Given the description of an element on the screen output the (x, y) to click on. 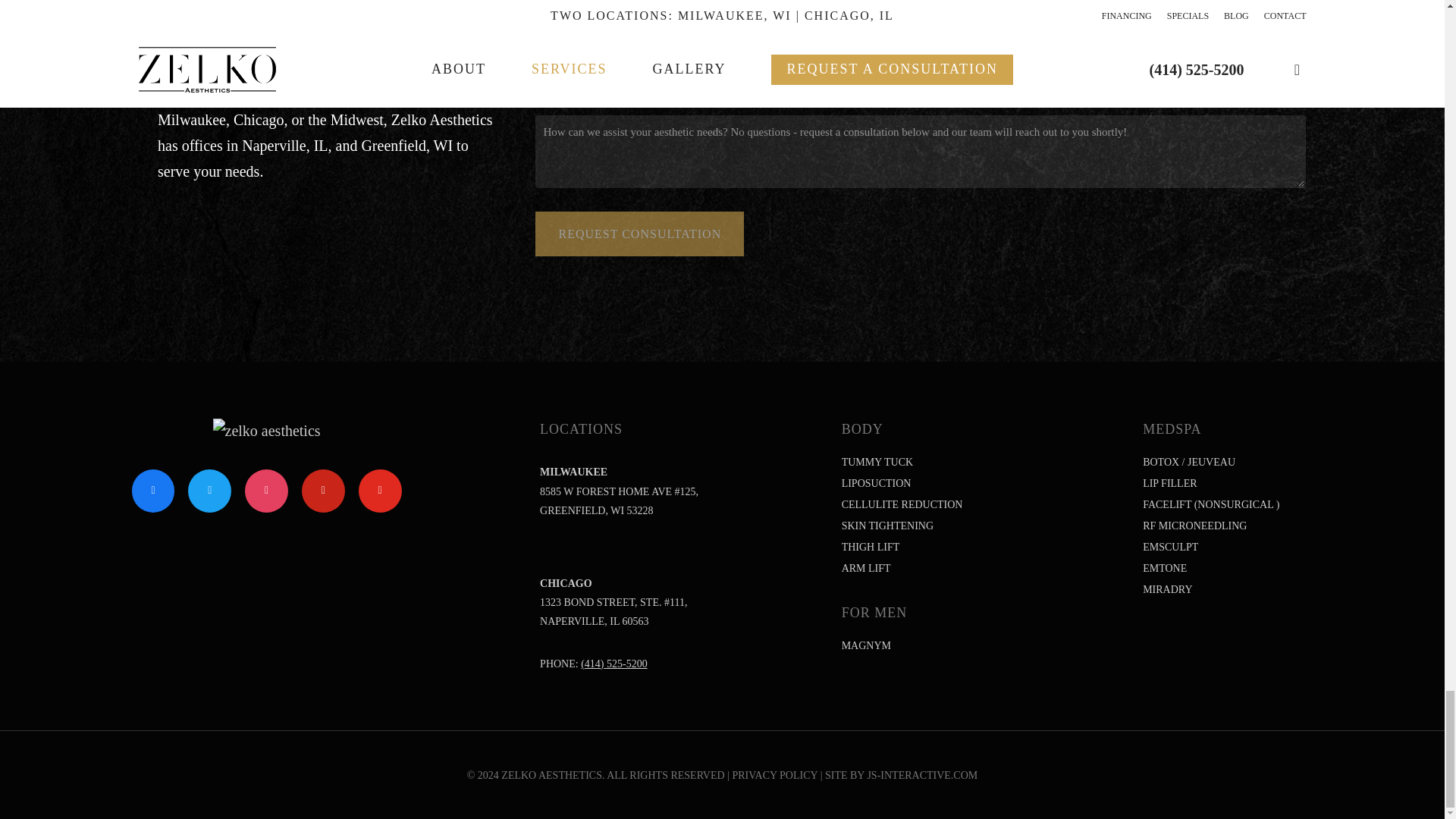
REQUEST CONSULTATION (639, 233)
Twitter (209, 491)
Pinterest (323, 491)
Youtube (380, 491)
Zelko Aesthetics (266, 430)
Facebook (153, 491)
Instagram (266, 491)
